Given the description of an element on the screen output the (x, y) to click on. 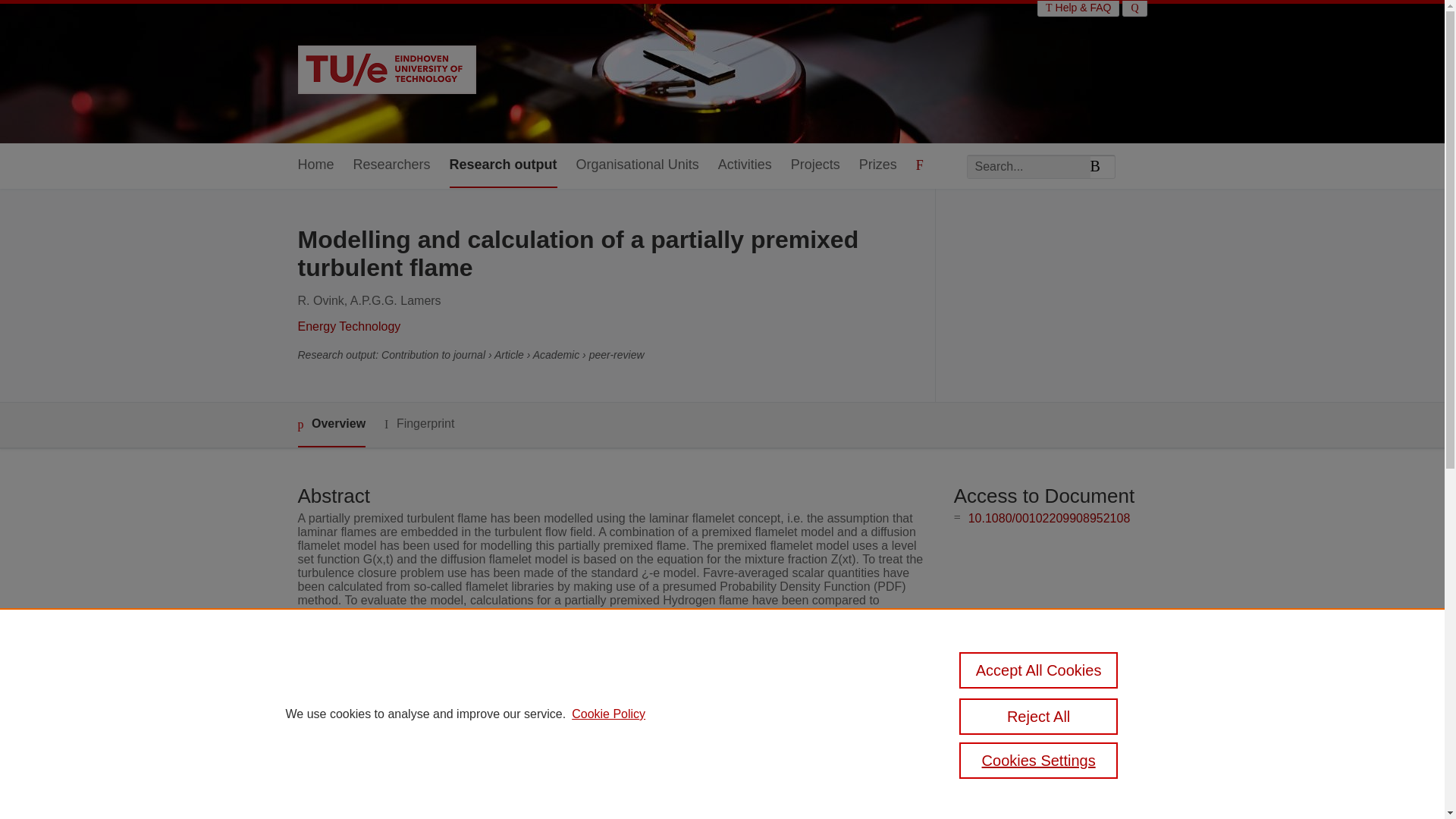
Energy Technology (348, 326)
Researchers (391, 165)
Fingerprint (419, 423)
Organisational Units (637, 165)
Eindhoven University of Technology research portal Home (386, 71)
Overview (331, 424)
Combustion Science and Technology (607, 700)
Activities (744, 165)
Projects (815, 165)
Research output (503, 165)
